Given the description of an element on the screen output the (x, y) to click on. 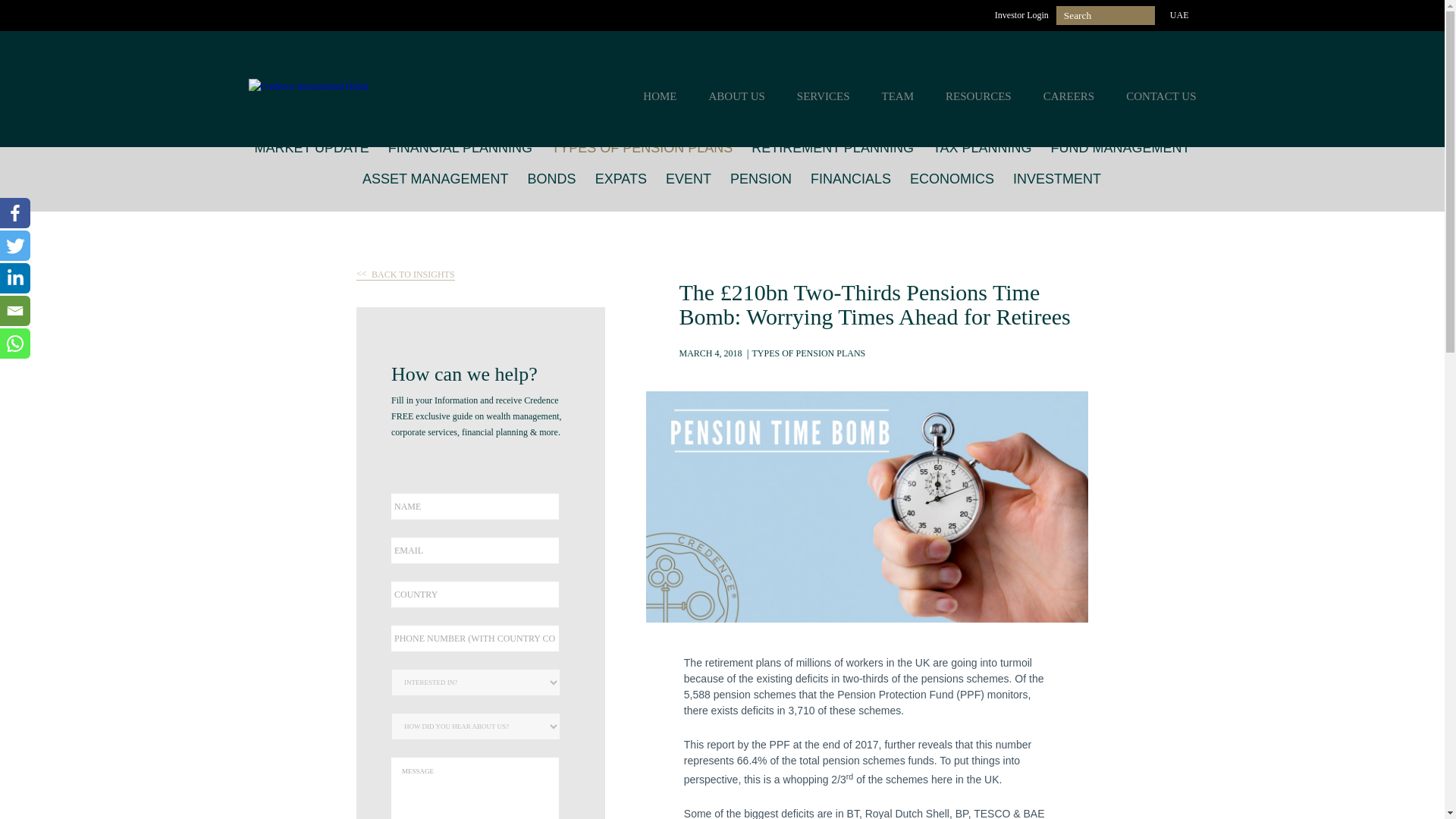
Email (15, 310)
TAX PLANNING (982, 147)
ABOUT US (735, 96)
PENSION (761, 177)
Whatsapp (15, 343)
INVESTMENT (1056, 177)
BACK TO INSIGHTS (405, 274)
Facebook (15, 213)
ASSET MANAGEMENT (435, 177)
Twitter (15, 245)
TYPES OF PENSION PLANS (641, 147)
FUND MANAGEMENT (1121, 147)
Linkedin (15, 277)
ECONOMICS (952, 177)
CAREERS (1068, 96)
